Given the description of an element on the screen output the (x, y) to click on. 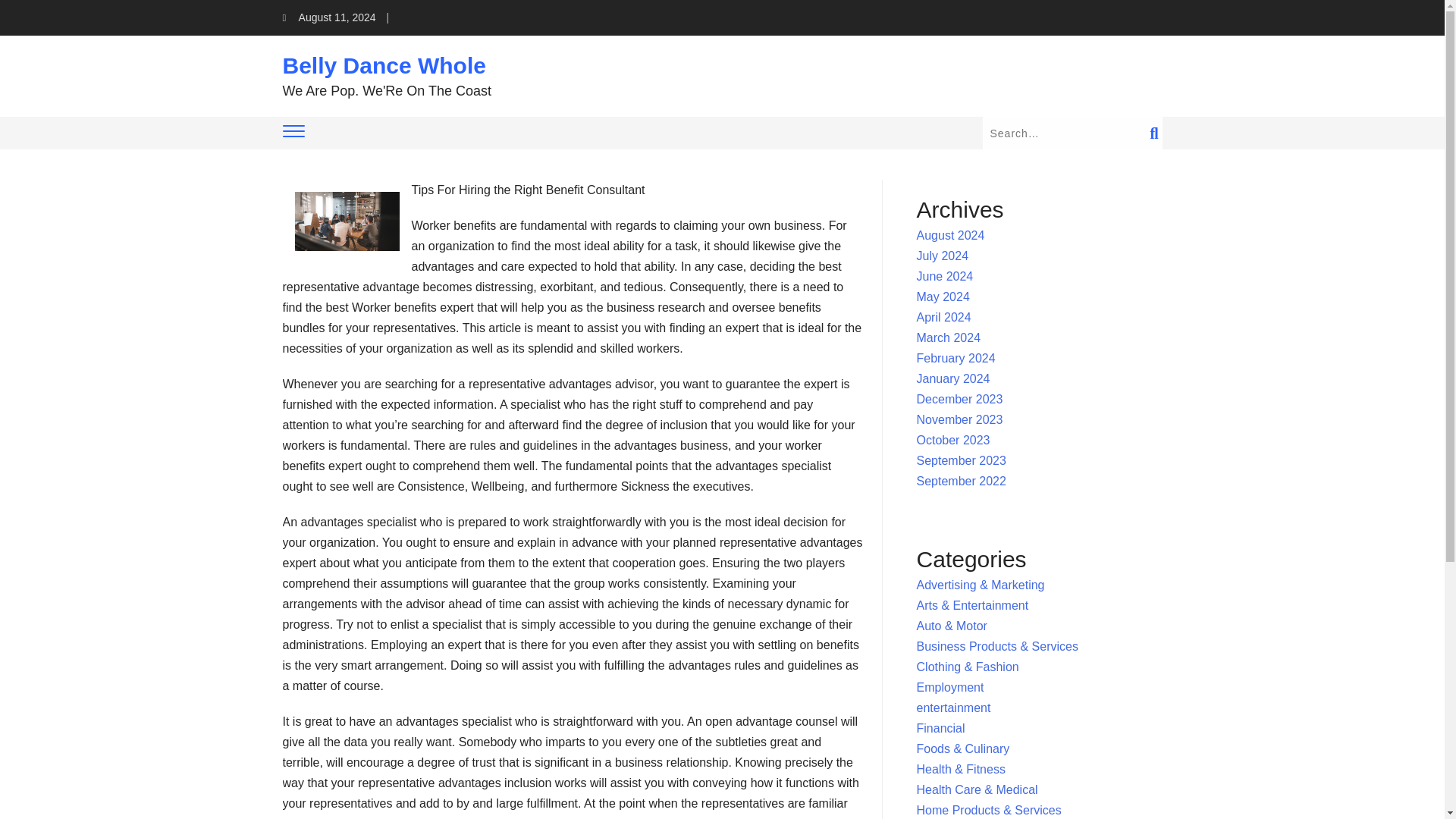
December 2023 (960, 399)
Employment (950, 686)
July 2024 (943, 255)
Belly Dance Whole (383, 65)
September 2022 (961, 481)
April 2024 (944, 317)
June 2024 (945, 276)
January 2024 (953, 378)
entertainment (954, 707)
November 2023 (960, 419)
